Given the description of an element on the screen output the (x, y) to click on. 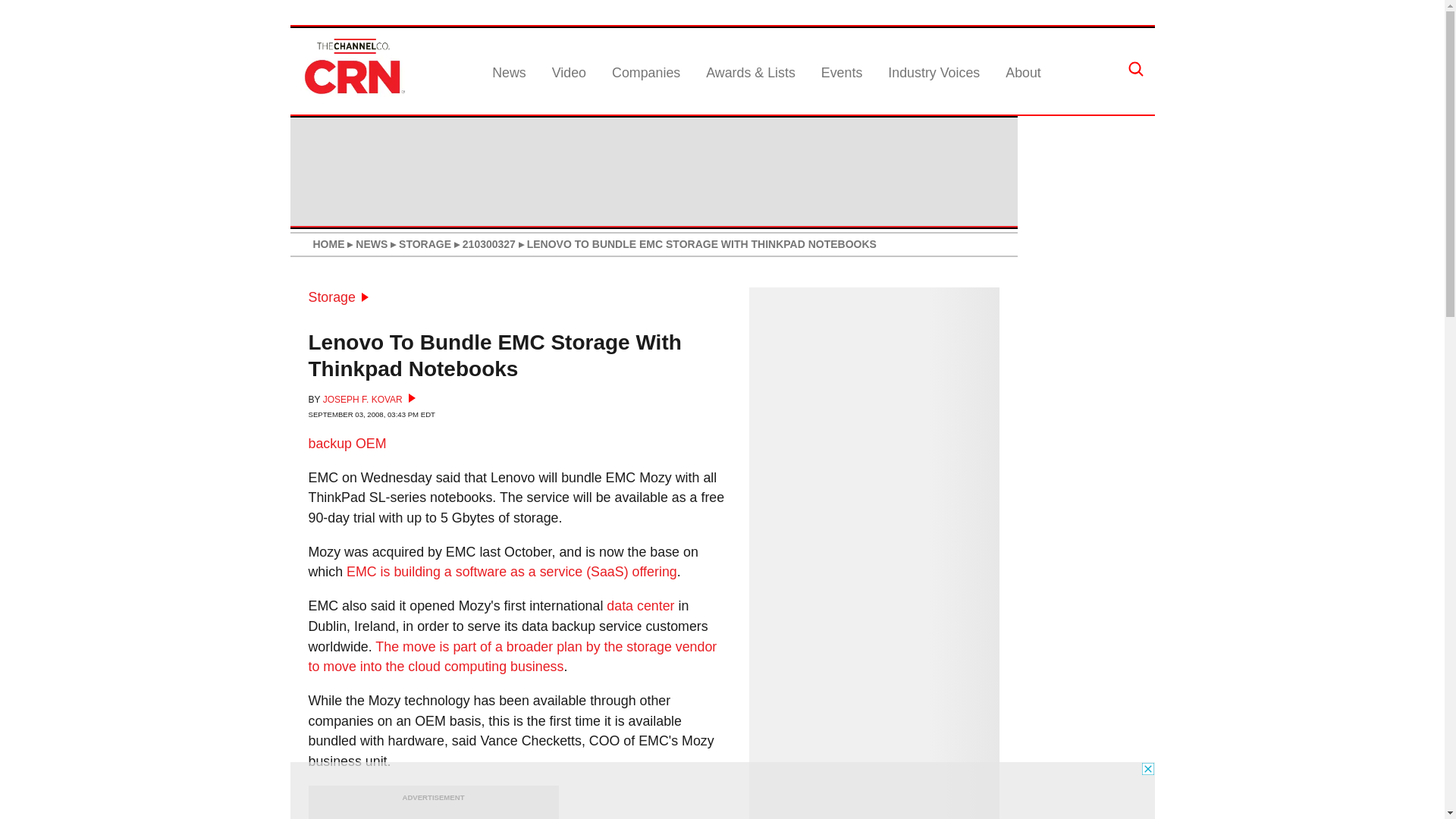
backup (329, 443)
OEM (371, 443)
data center (640, 605)
Storage (337, 296)
Navigate to homepage (352, 94)
